Given the description of an element on the screen output the (x, y) to click on. 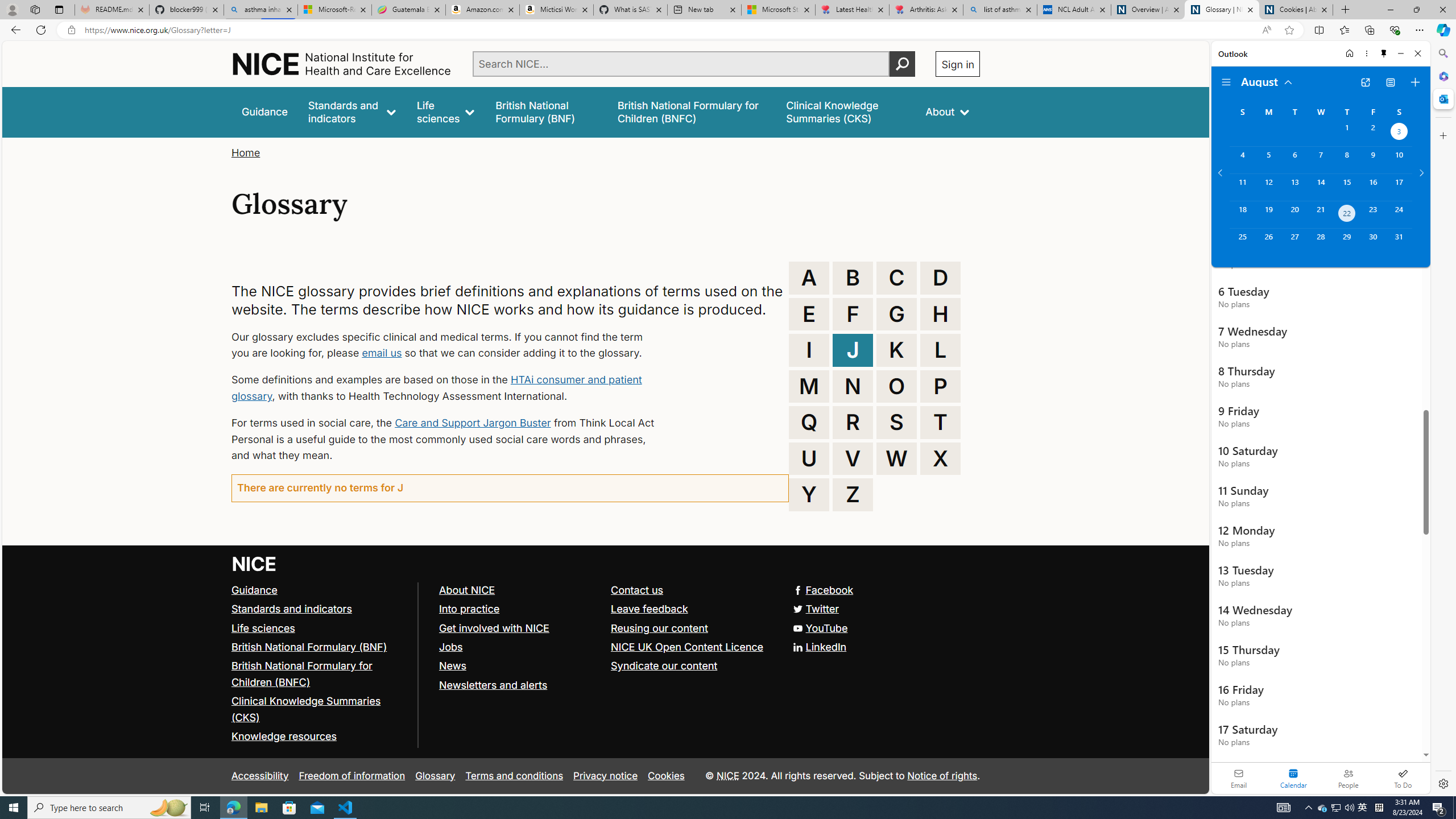
Notice of rights (941, 775)
Monday, August 26, 2024.  (1268, 241)
Life sciences (263, 627)
Facebook (823, 589)
H (940, 313)
British National Formulary for Children (BNFC) (319, 674)
Z (852, 494)
B (852, 277)
HTAi consumer and patient glossary (436, 387)
I (809, 350)
Glossary | NICE (1221, 9)
Twitter (605, 609)
